Given the description of an element on the screen output the (x, y) to click on. 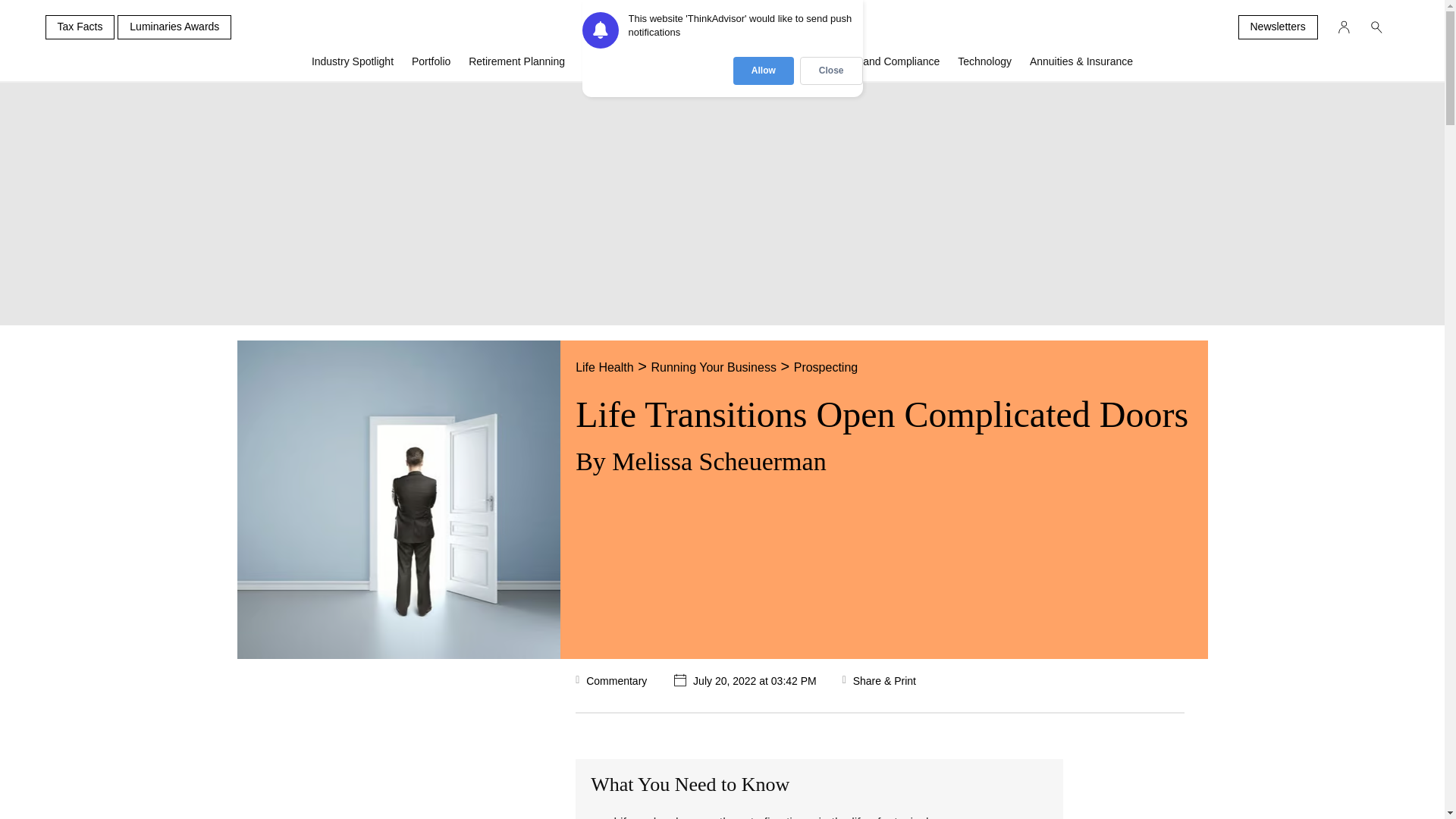
Luminaries Awards (174, 27)
Industry Spotlight (352, 67)
Tax Facts (80, 27)
Newsletters (1277, 27)
